Given the description of an element on the screen output the (x, y) to click on. 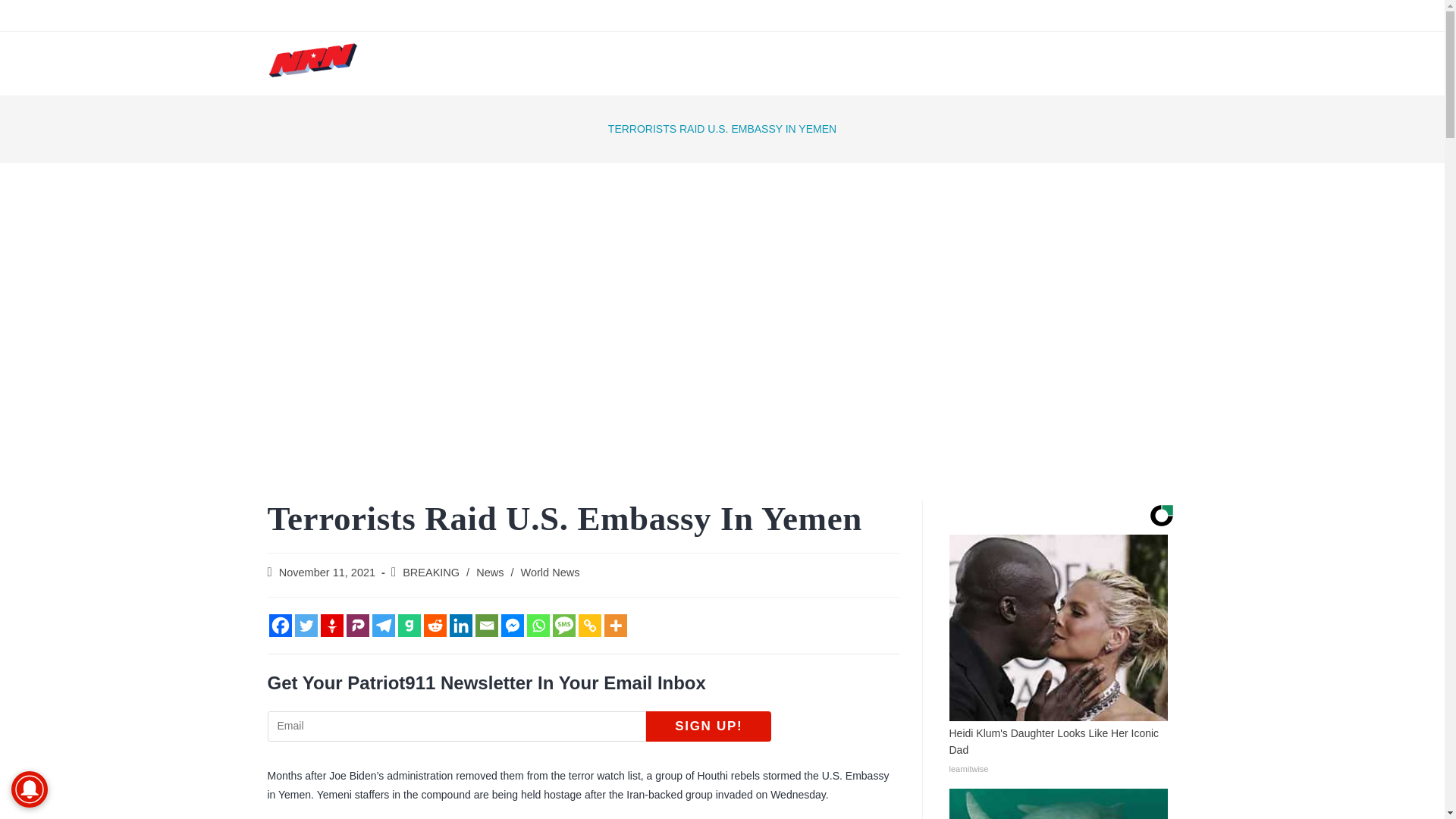
WRITE FOR US (1011, 63)
Email (485, 625)
SUPPORT US (905, 63)
Gab (408, 625)
TUCKER CARLSON (665, 15)
More (615, 625)
NEWS (566, 63)
COLUMNISTS (740, 63)
CHINA (941, 15)
Twitter (305, 625)
